Given the description of an element on the screen output the (x, y) to click on. 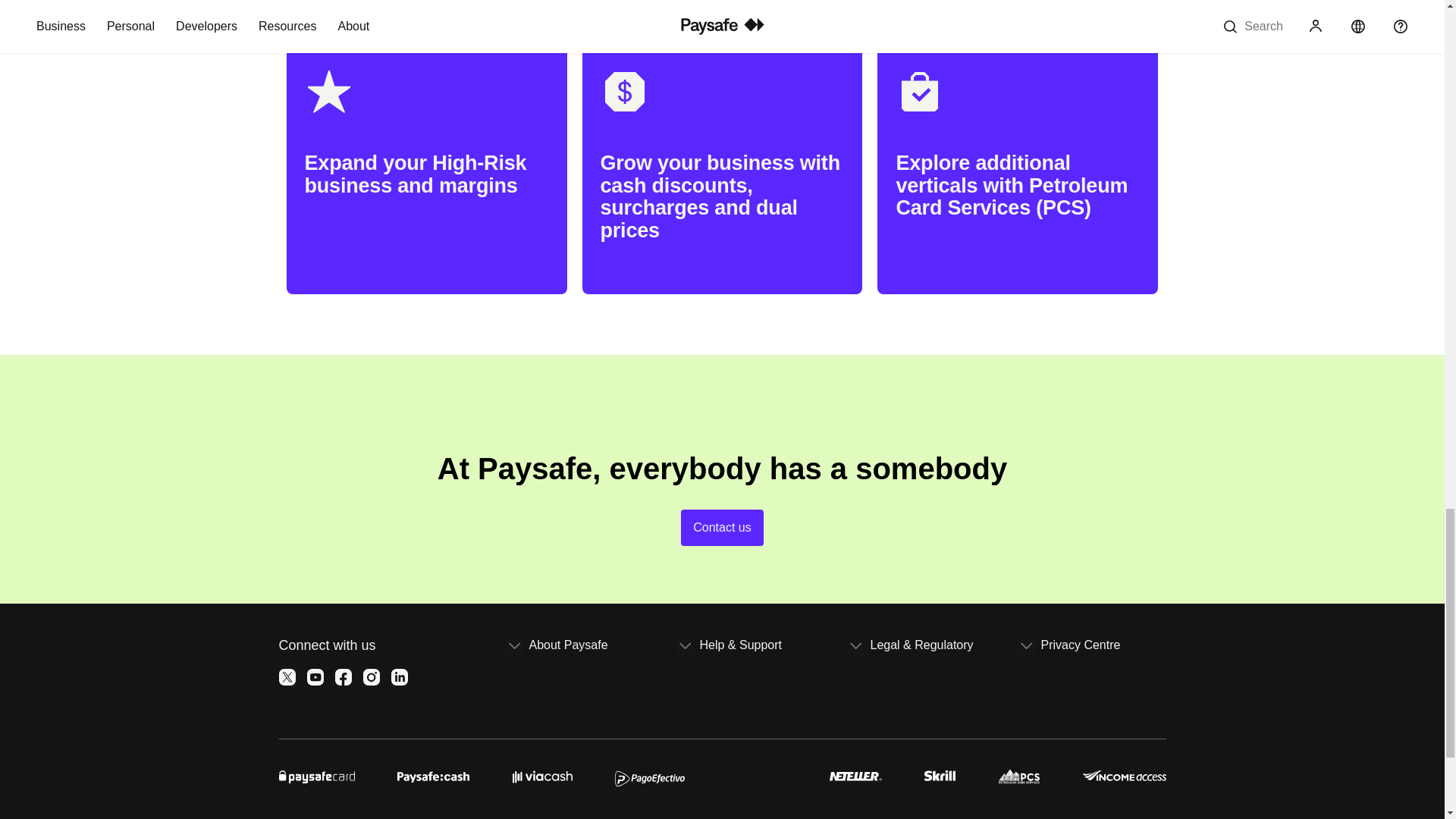
viacash (542, 774)
Skrill (939, 774)
Paysafecard (317, 774)
Income Access (1124, 774)
safety pay (757, 774)
PCS (1018, 774)
Neteller (855, 774)
Paysafecash (432, 774)
Pago Efectivo (649, 774)
